Given the description of an element on the screen output the (x, y) to click on. 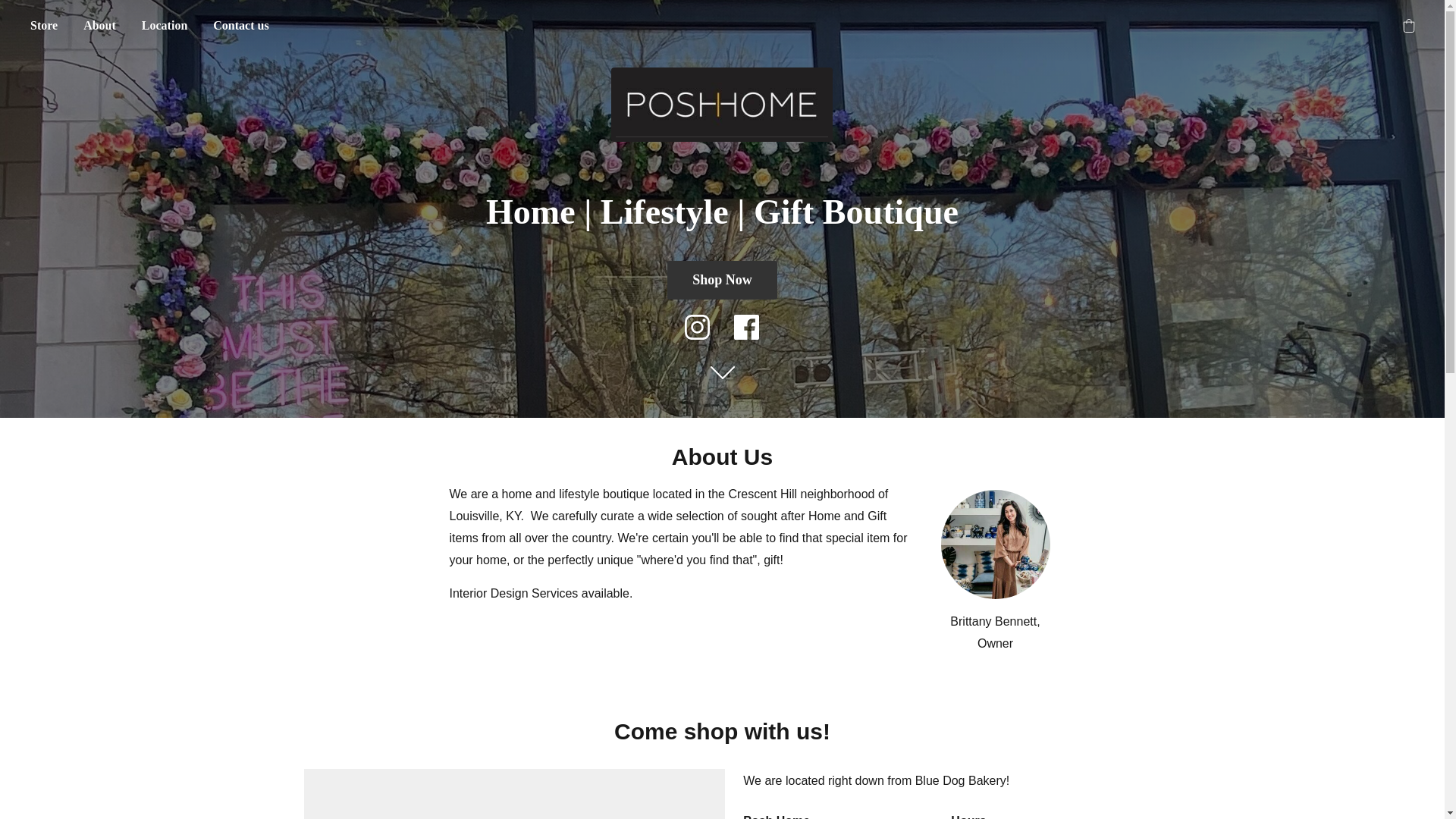
Location (164, 25)
Location on map (513, 794)
Shop Now (721, 280)
Store (43, 25)
Contact us (240, 25)
About (99, 25)
